Given the description of an element on the screen output the (x, y) to click on. 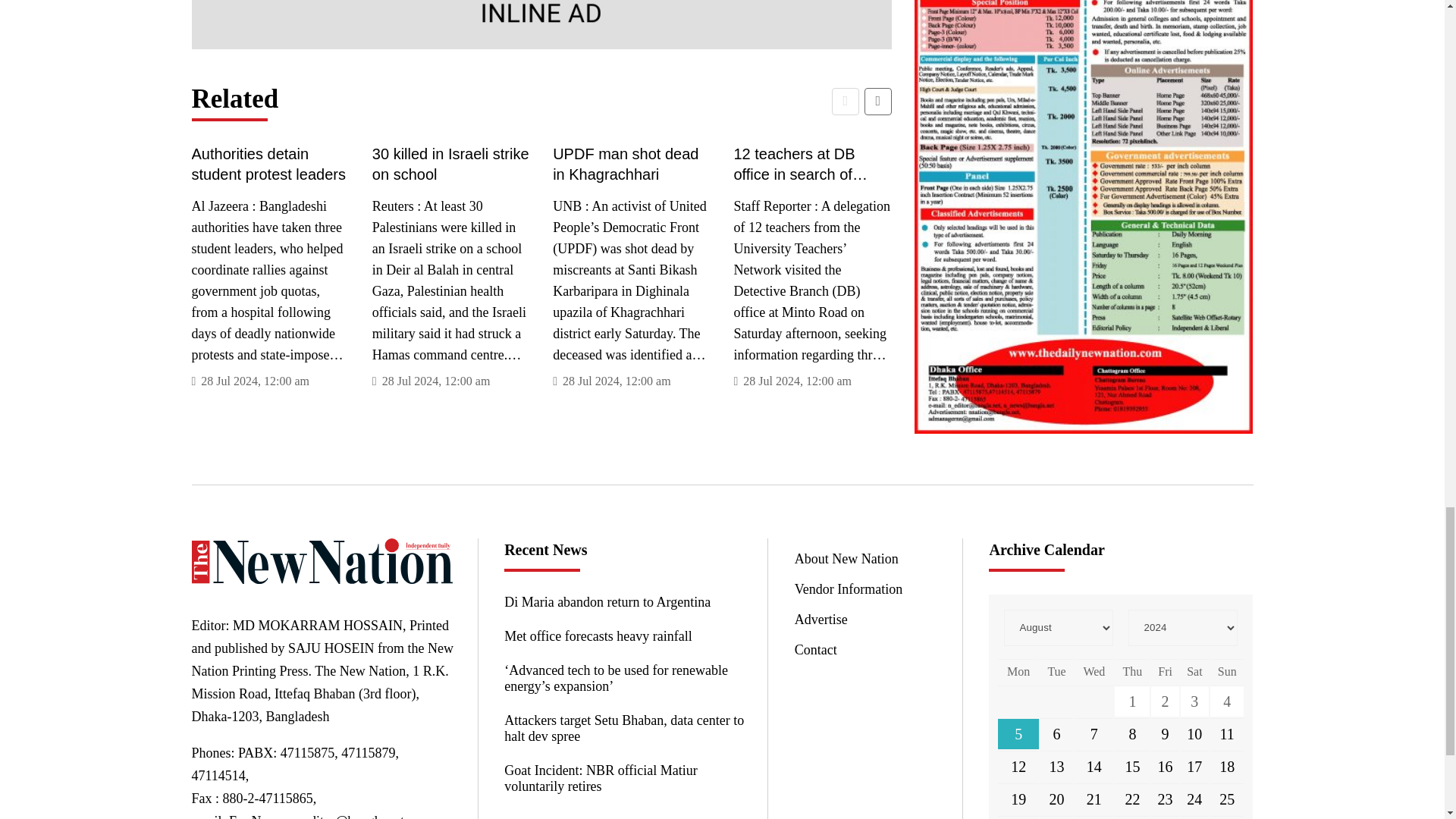
Thursday (1132, 671)
Di Maria abandon return to Argentina (623, 602)
Met office forecasts heavy rainfall (623, 636)
Authorities detain student protest leaders (269, 164)
Sunday (1226, 671)
Wednesday (1093, 671)
Tuesday (1057, 671)
30 killed in Israeli strike on school (450, 164)
12 teachers at DB office in search of coordinators (812, 164)
Monday (1017, 671)
